Given the description of an element on the screen output the (x, y) to click on. 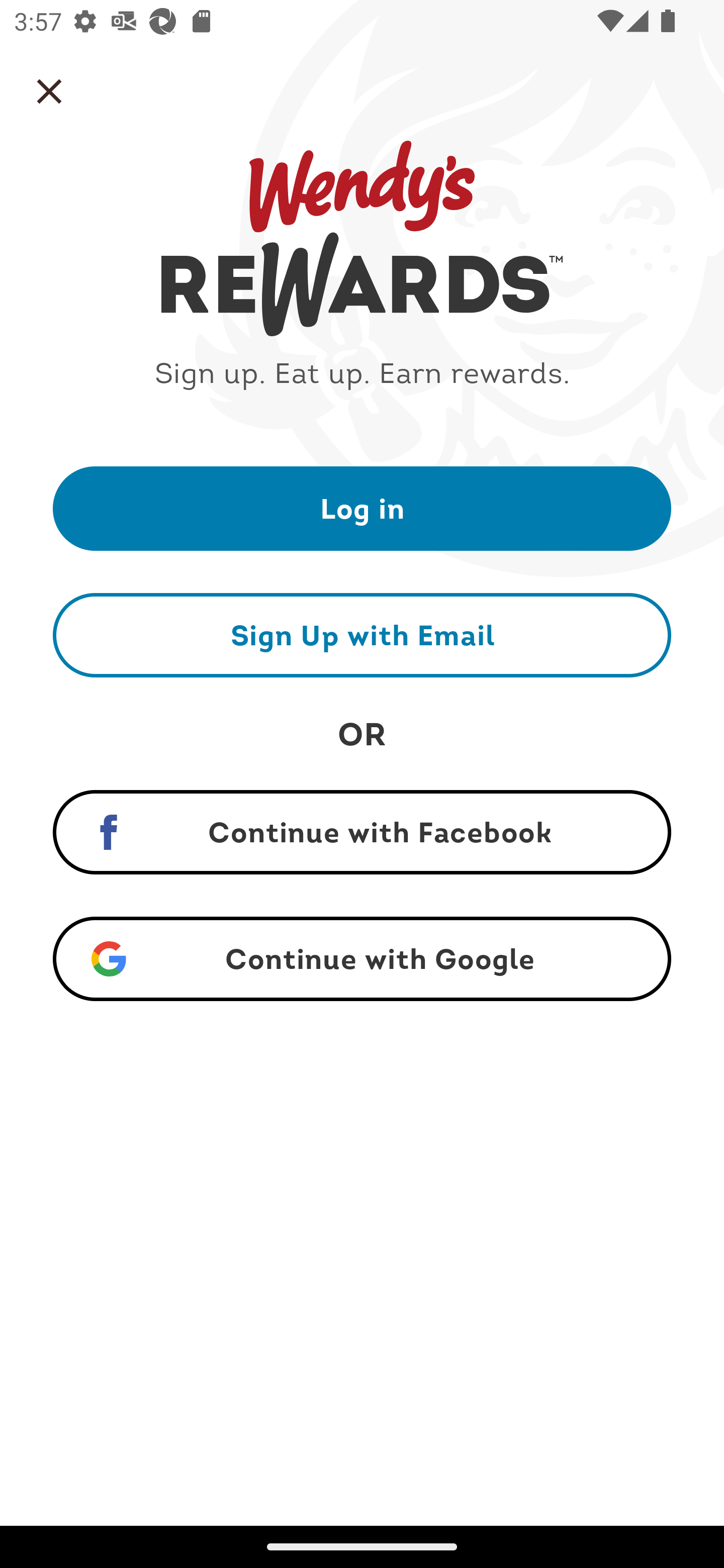
close (49, 91)
Log in (361, 507)
Sign Up with Email (361, 634)
Continue with Facebook (361, 832)
Continue with Google (361, 958)
